Given the description of an element on the screen output the (x, y) to click on. 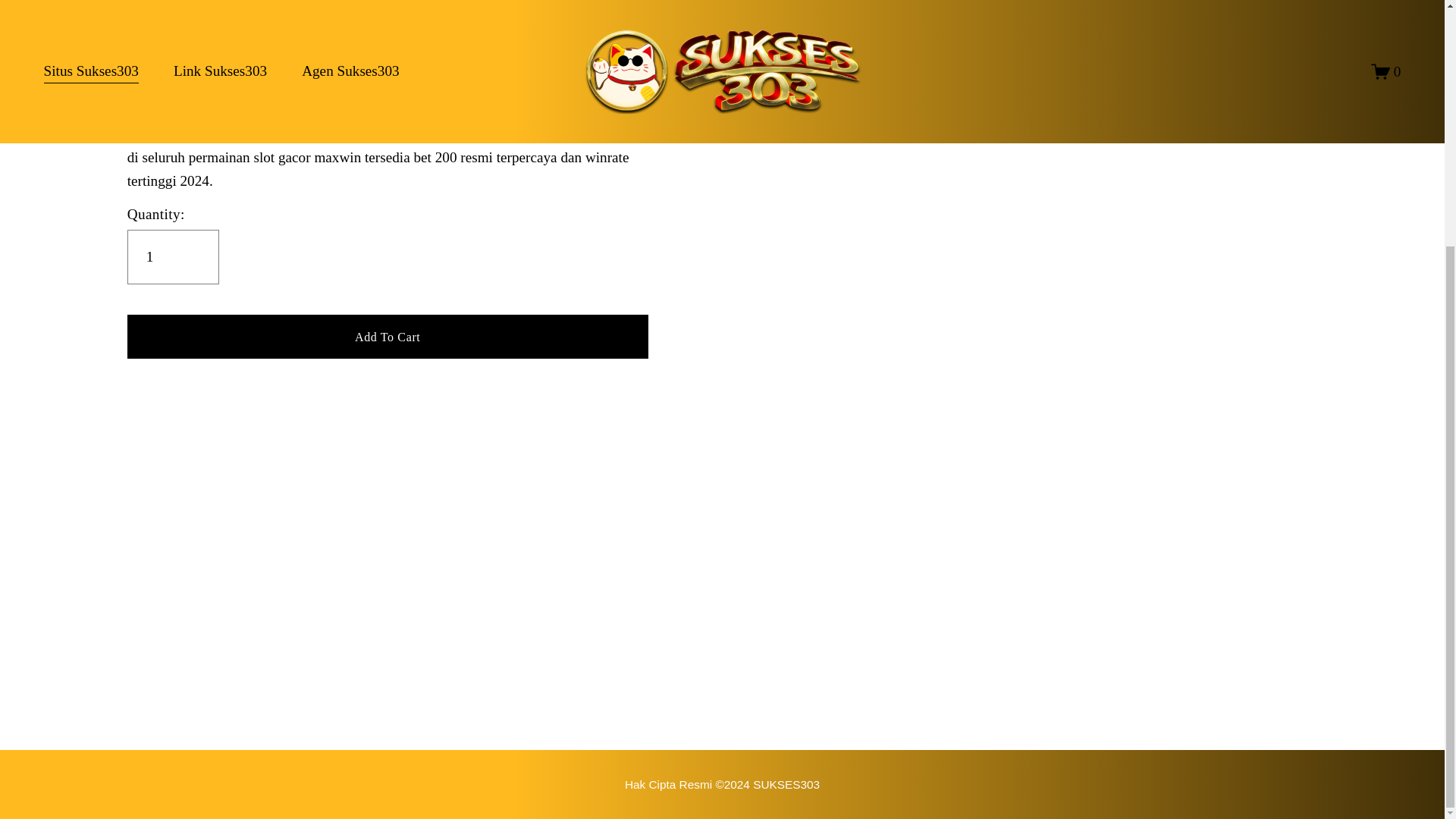
Daftar Slot Online (721, 784)
1 (173, 257)
Add To Cart (387, 335)
